Given the description of an element on the screen output the (x, y) to click on. 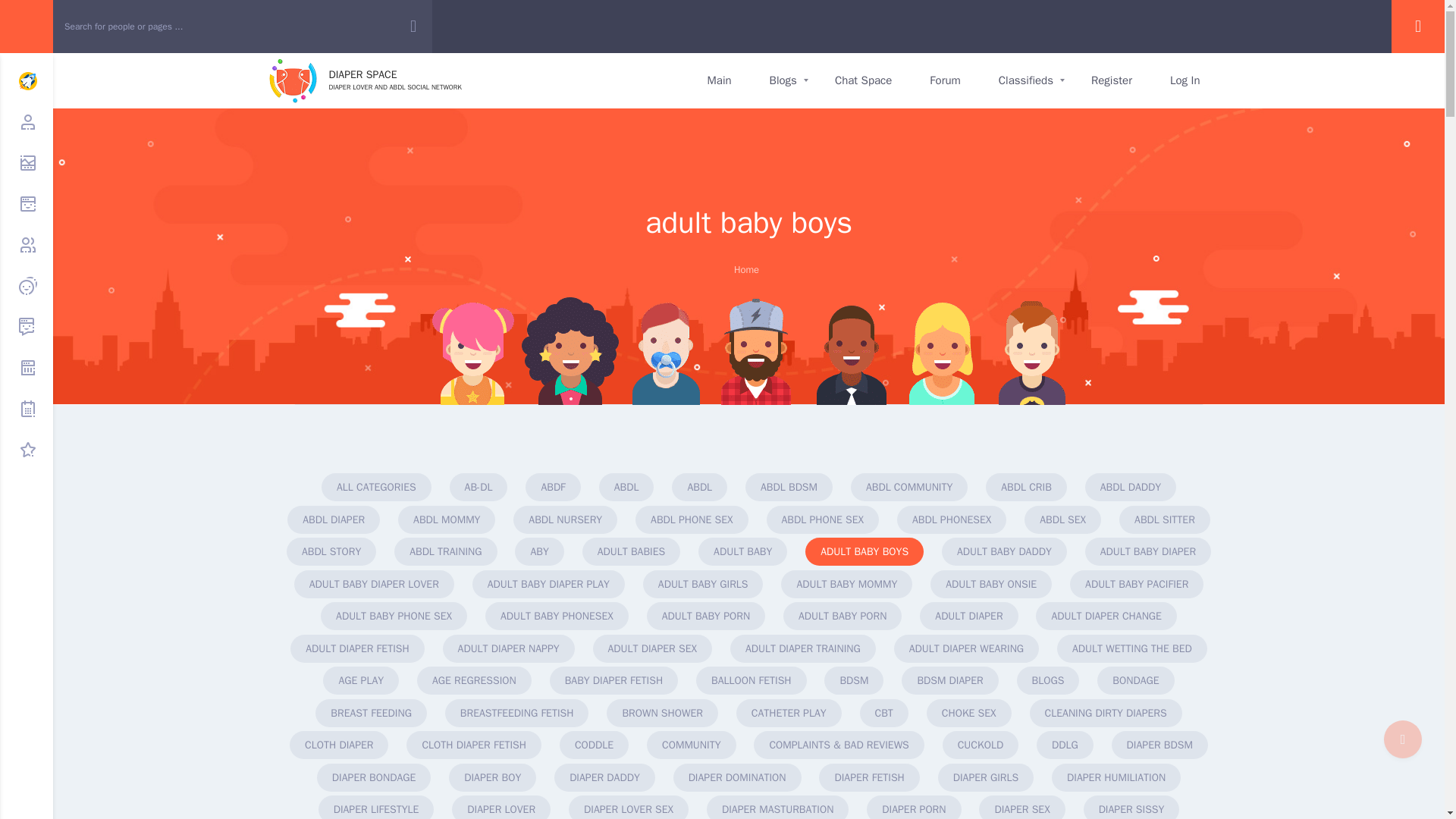
AB-DL (478, 487)
Blogs (783, 80)
Register (1111, 80)
Classifieds (1025, 80)
Log In (1185, 80)
Main (363, 80)
Chat Space (719, 80)
ALL CATEGORIES (863, 80)
Forum (375, 487)
